Given the description of an element on the screen output the (x, y) to click on. 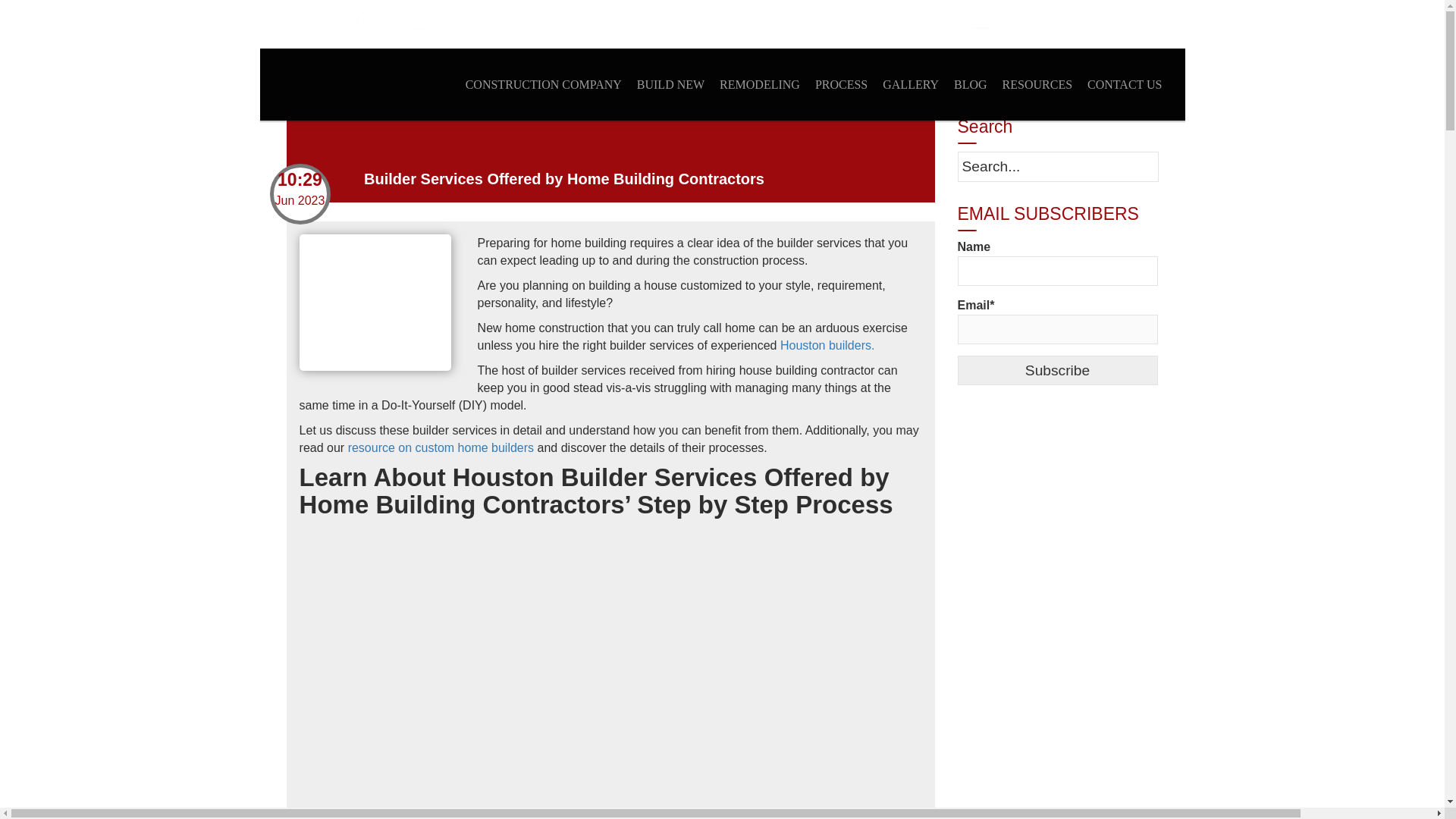
contact (979, 19)
713-818-1720 (921, 19)
E-Book Download (99, 36)
Pinterest (362, 20)
facebook (280, 20)
BUILD NEW (669, 84)
Instagram (417, 20)
Pinterest (362, 20)
RSS (390, 20)
Youtube (444, 20)
